Given the description of an element on the screen output the (x, y) to click on. 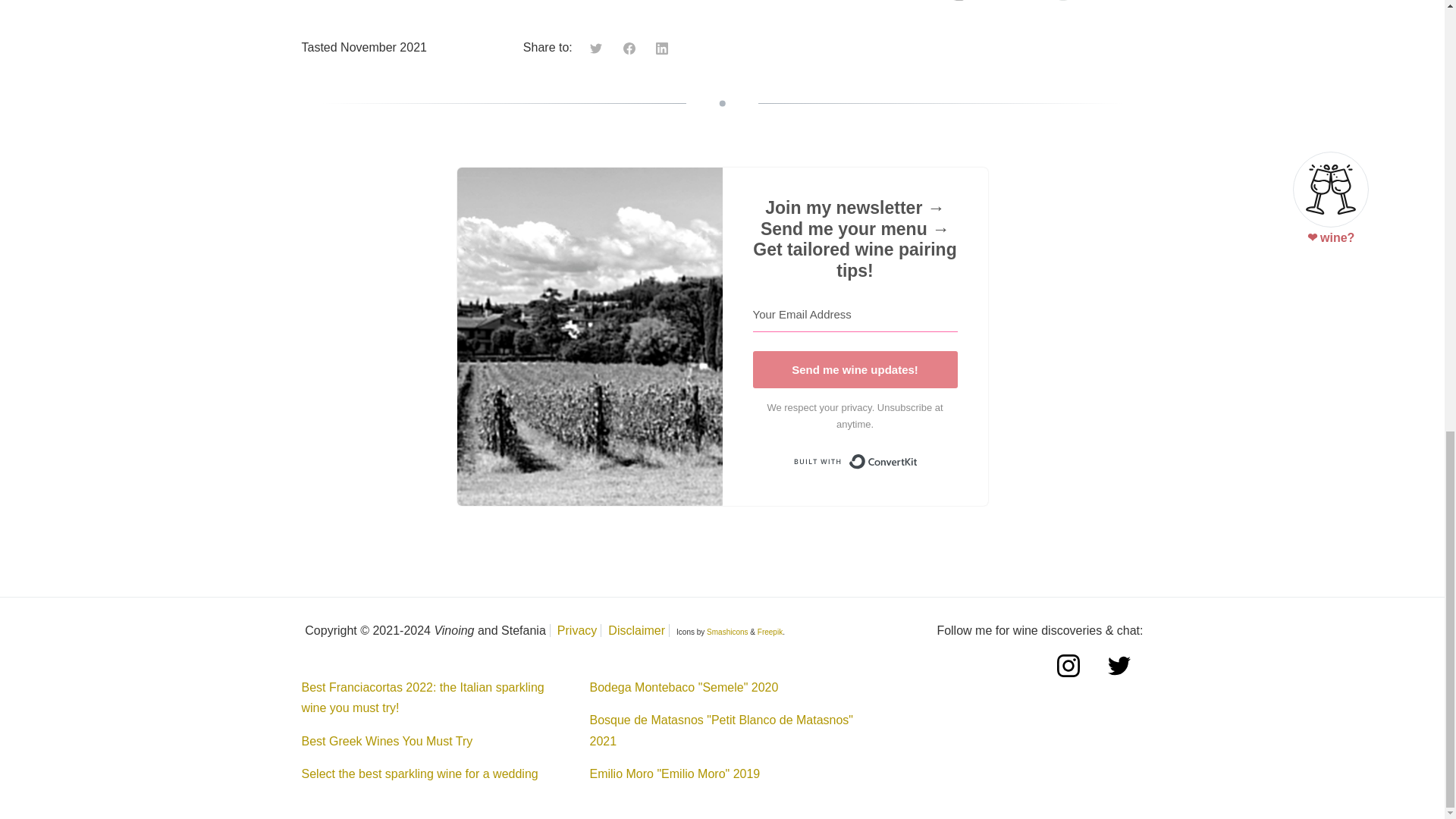
LinkedIn icon (662, 48)
Smashicons (727, 632)
Smashicons (727, 632)
Twitter icon (597, 47)
Bosque de Matasnos "Petit Blanco de Matasnos" 2021 (721, 729)
Built with ConvertKit (854, 461)
Bodega Montebaco "Semele" 2020 (683, 686)
Freepik (770, 632)
Facebook icon (631, 47)
